Given the description of an element on the screen output the (x, y) to click on. 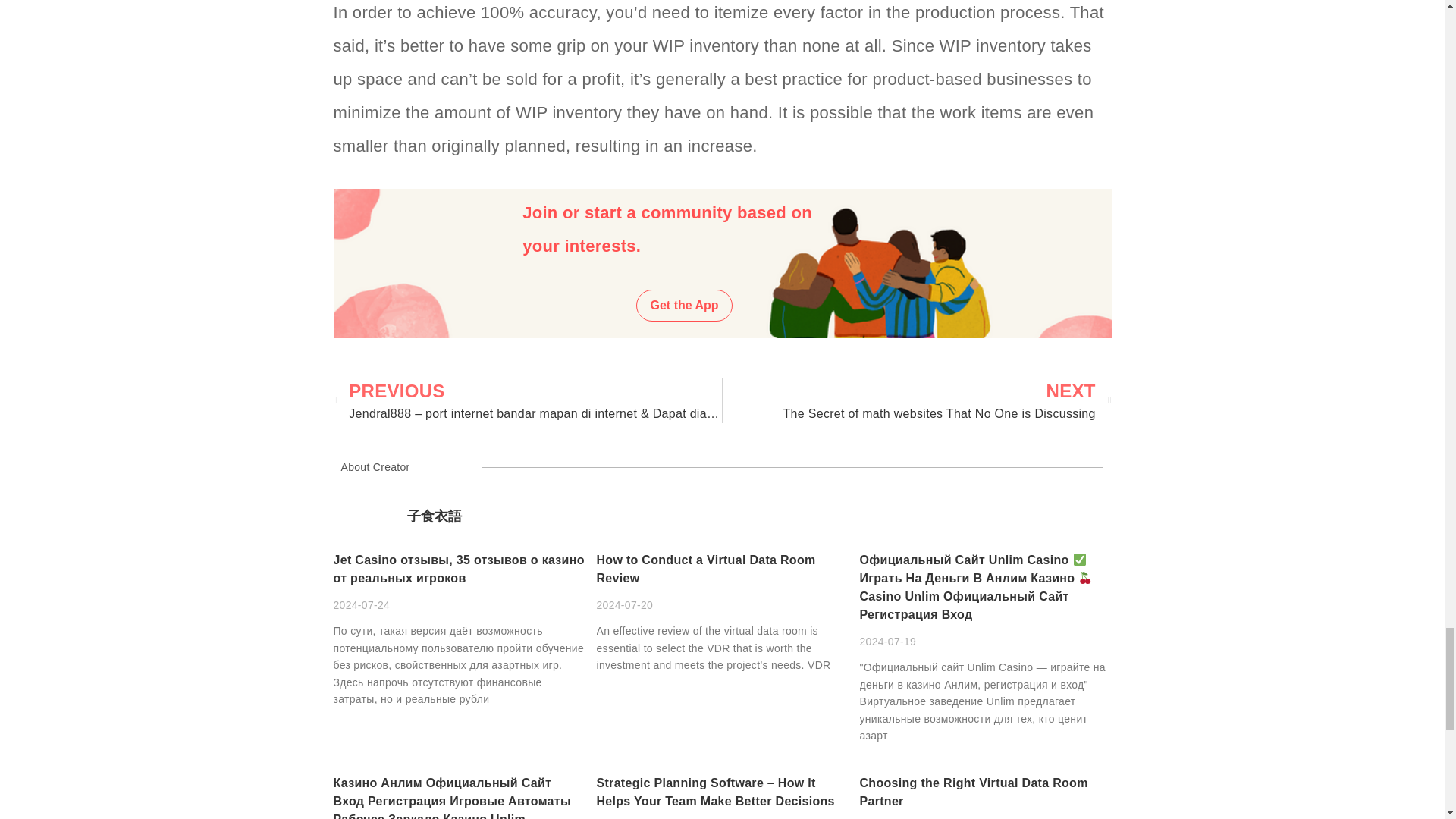
Get the App (684, 305)
